Given the description of an element on the screen output the (x, y) to click on. 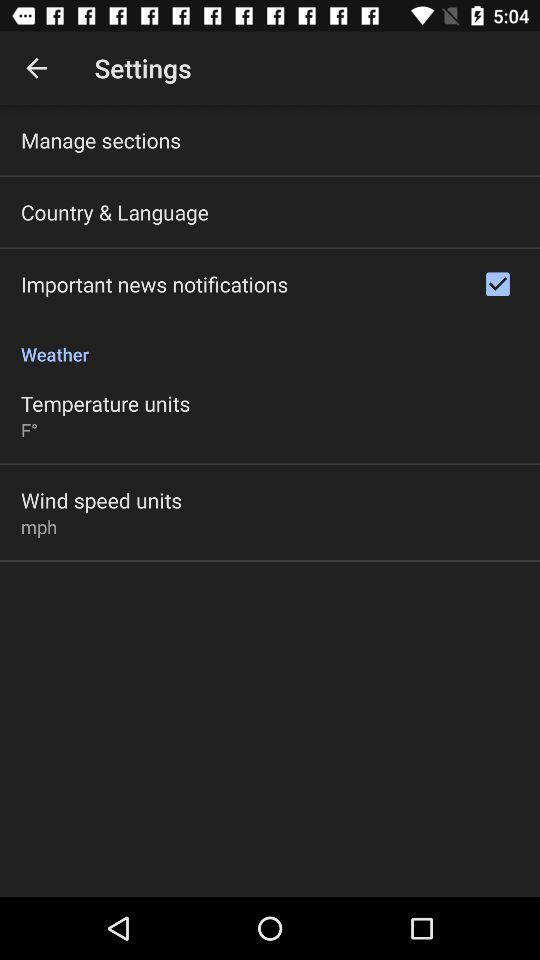
click the mph item (39, 526)
